Given the description of an element on the screen output the (x, y) to click on. 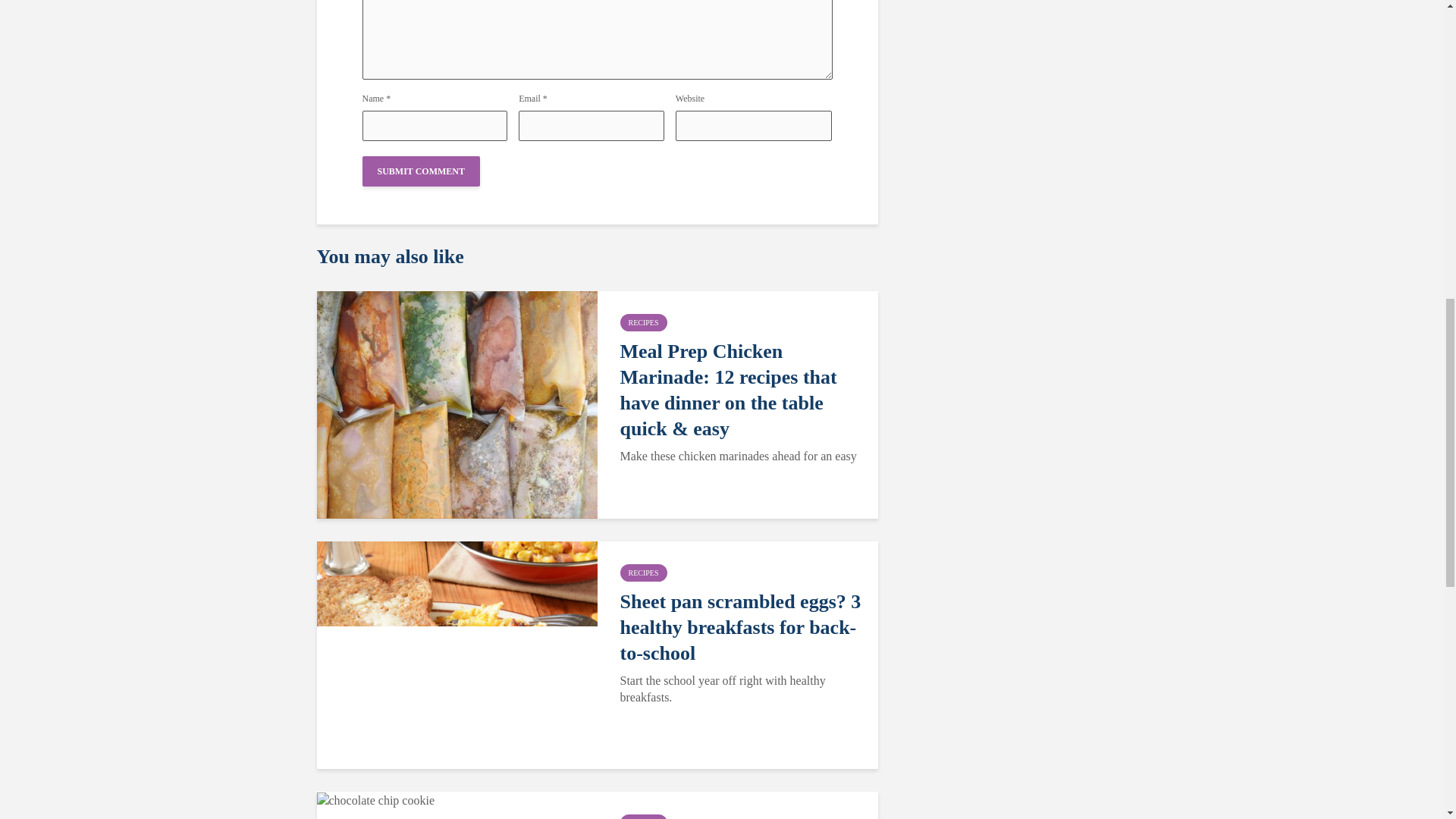
RECIPES (643, 322)
RECIPES (643, 816)
Submit Comment (421, 171)
RECIPES (643, 572)
Submit Comment (421, 171)
